Given the description of an element on the screen output the (x, y) to click on. 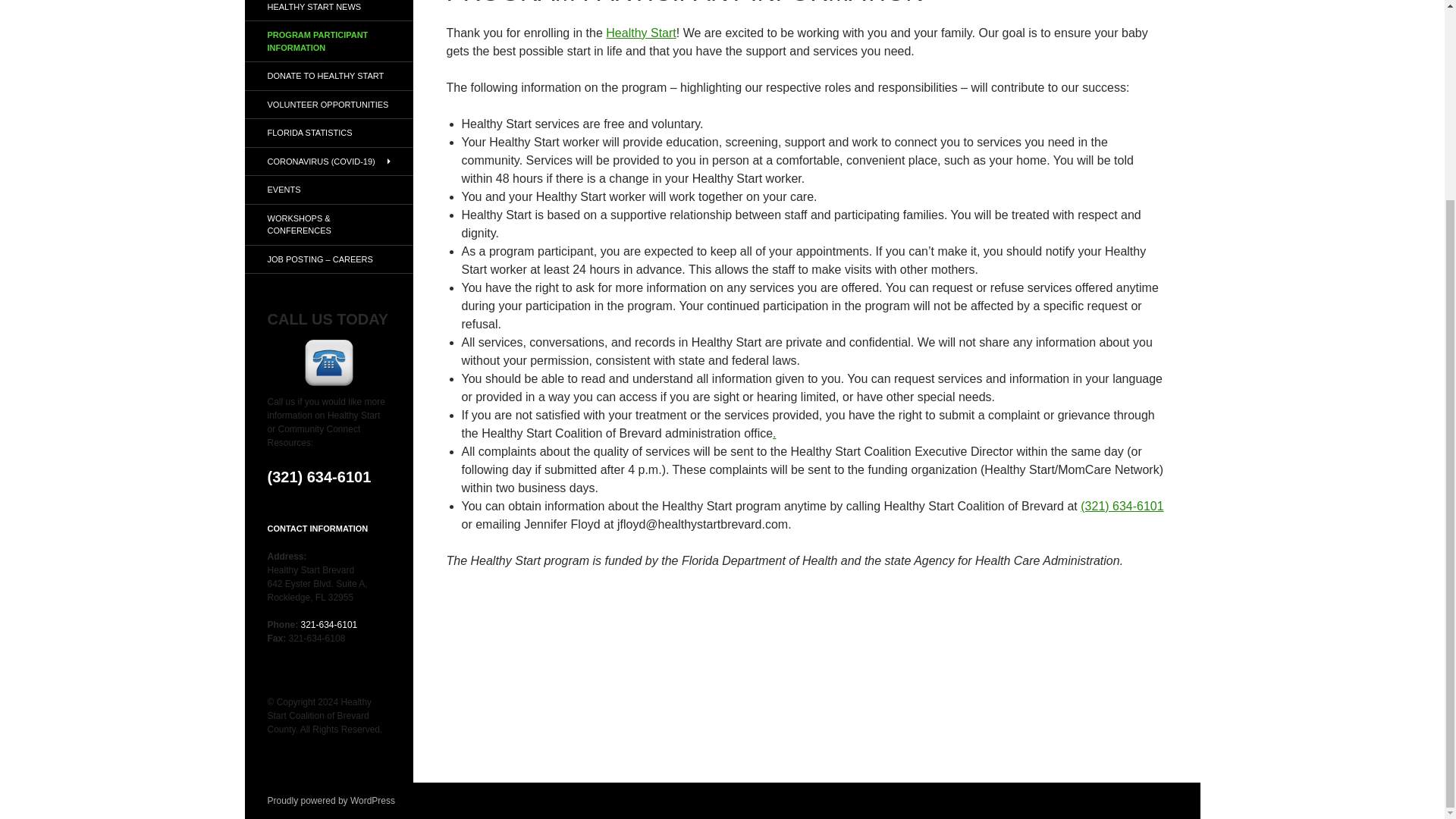
Healthy Start (640, 32)
HEALTHY START NEWS (328, 10)
PROGRAM PARTICIPANT INFORMATION (328, 41)
DONATE TO HEALTHY START (328, 76)
